Given the description of an element on the screen output the (x, y) to click on. 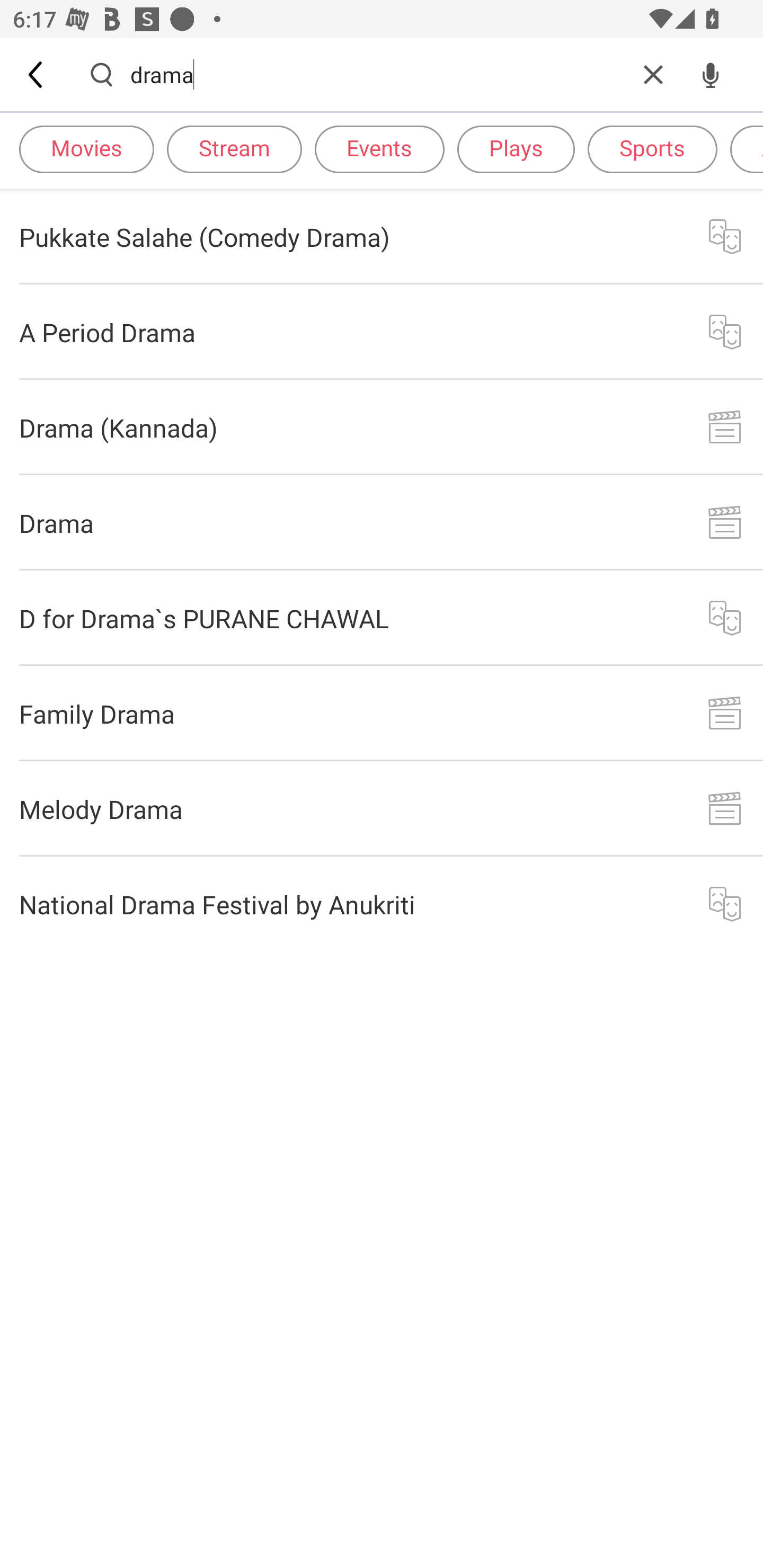
Back (36, 74)
drama (377, 74)
Clear (653, 74)
Movies (86, 148)
Stream (234, 148)
Events (379, 148)
Plays (515, 148)
Sports (652, 148)
Pukkate Salahe (Comedy Drama) (381, 236)
A Period Drama (381, 331)
Drama (Kannada) (381, 427)
Drama (381, 522)
D for Drama`s PURANE CHAWAL (381, 618)
Family Drama (381, 713)
Melody Drama (381, 808)
National Drama Festival by Anukriti (381, 903)
